Given the description of an element on the screen output the (x, y) to click on. 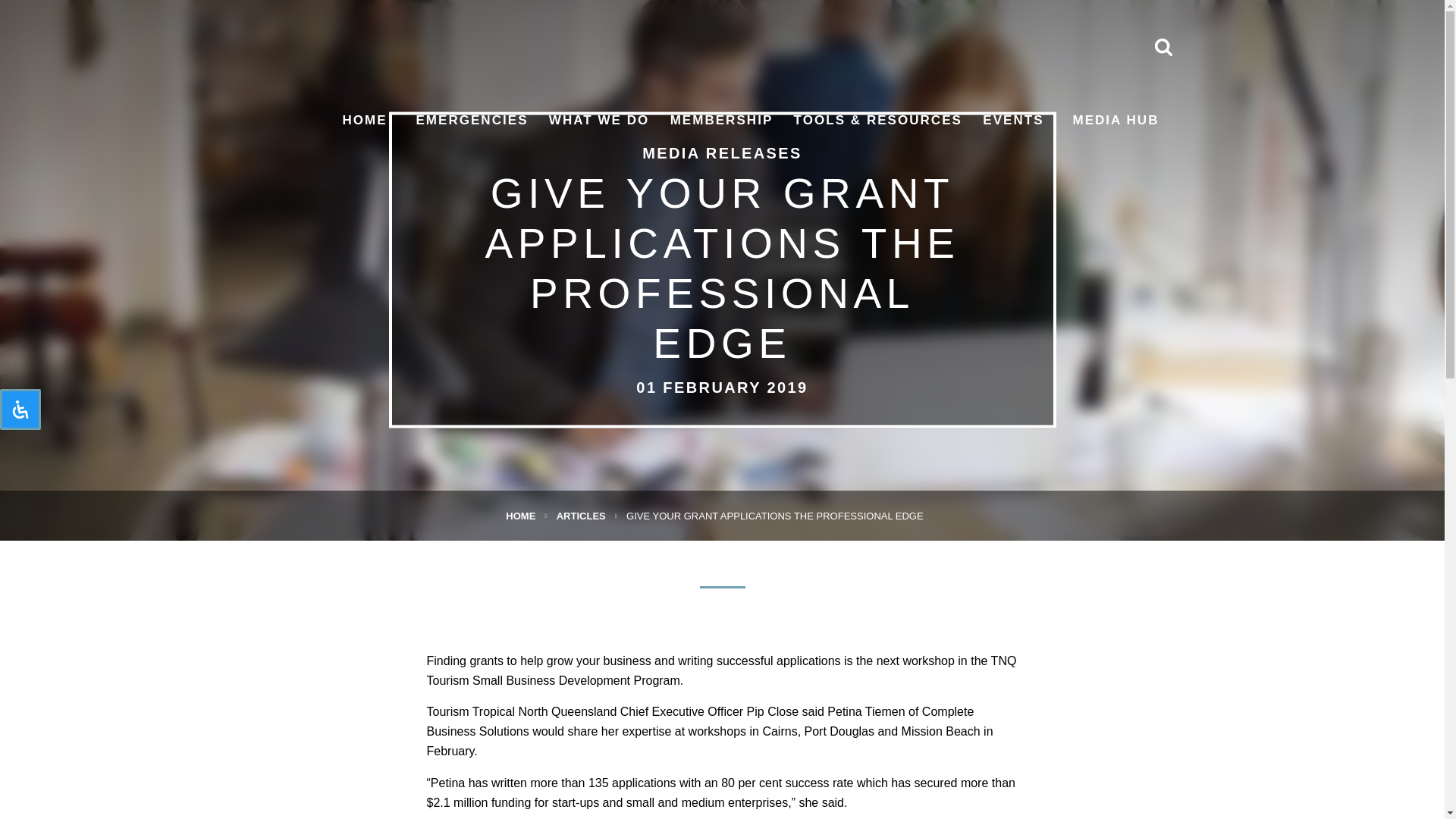
EVENTS (1012, 120)
MEDIA HUB (1114, 120)
EMERGENCIES (470, 120)
MEMBERSHIP (721, 120)
Accessibility (20, 409)
HOME (364, 120)
WHAT WE DO (598, 120)
